Given the description of an element on the screen output the (x, y) to click on. 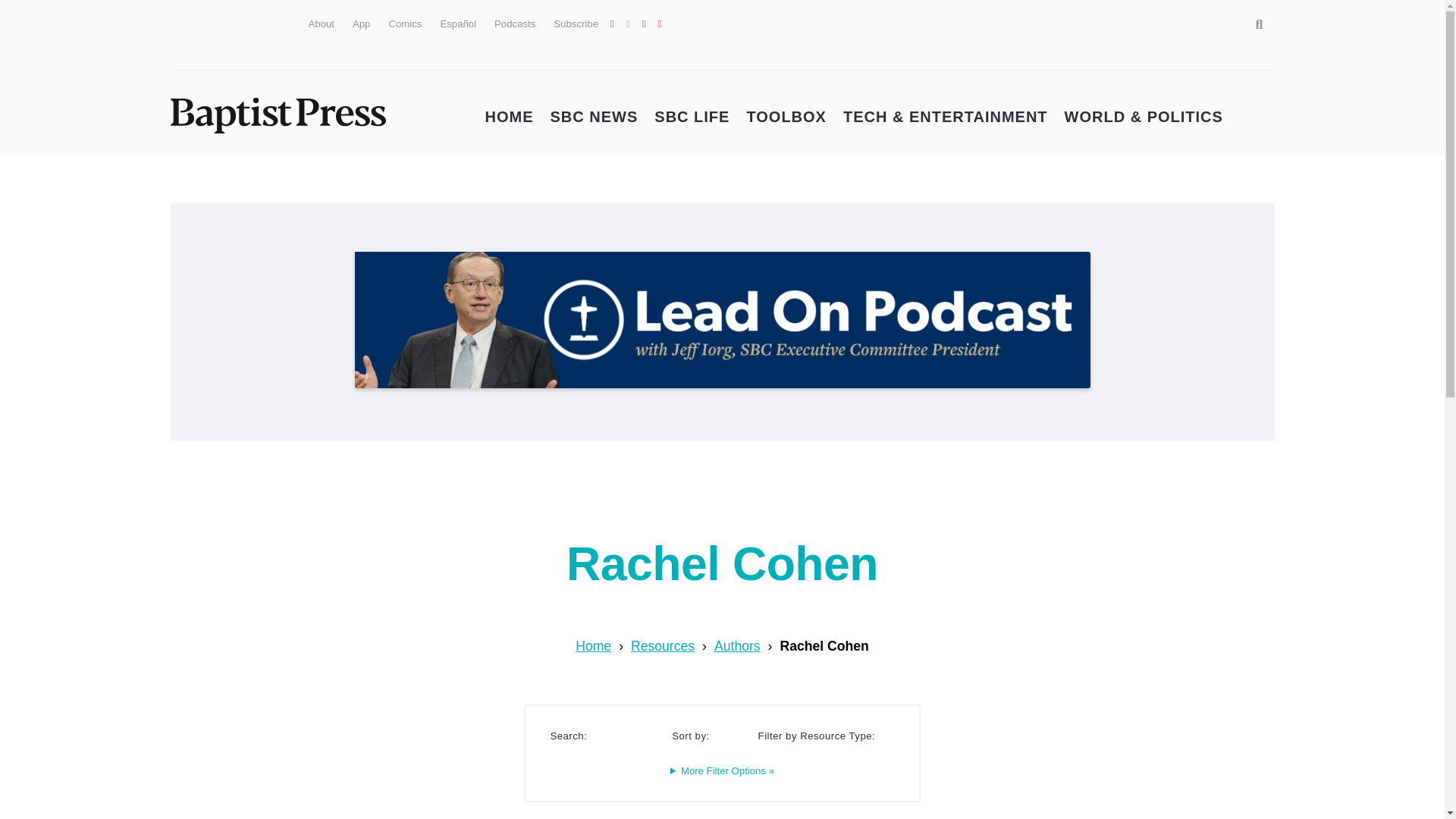
Subscribe (575, 23)
SBC NEWS (594, 116)
About (320, 23)
Podcasts (515, 23)
Haitian (182, 51)
Home (593, 645)
Authors (737, 645)
French (263, 21)
SBC LIFE (691, 116)
Portuguese (237, 21)
